Given the description of an element on the screen output the (x, y) to click on. 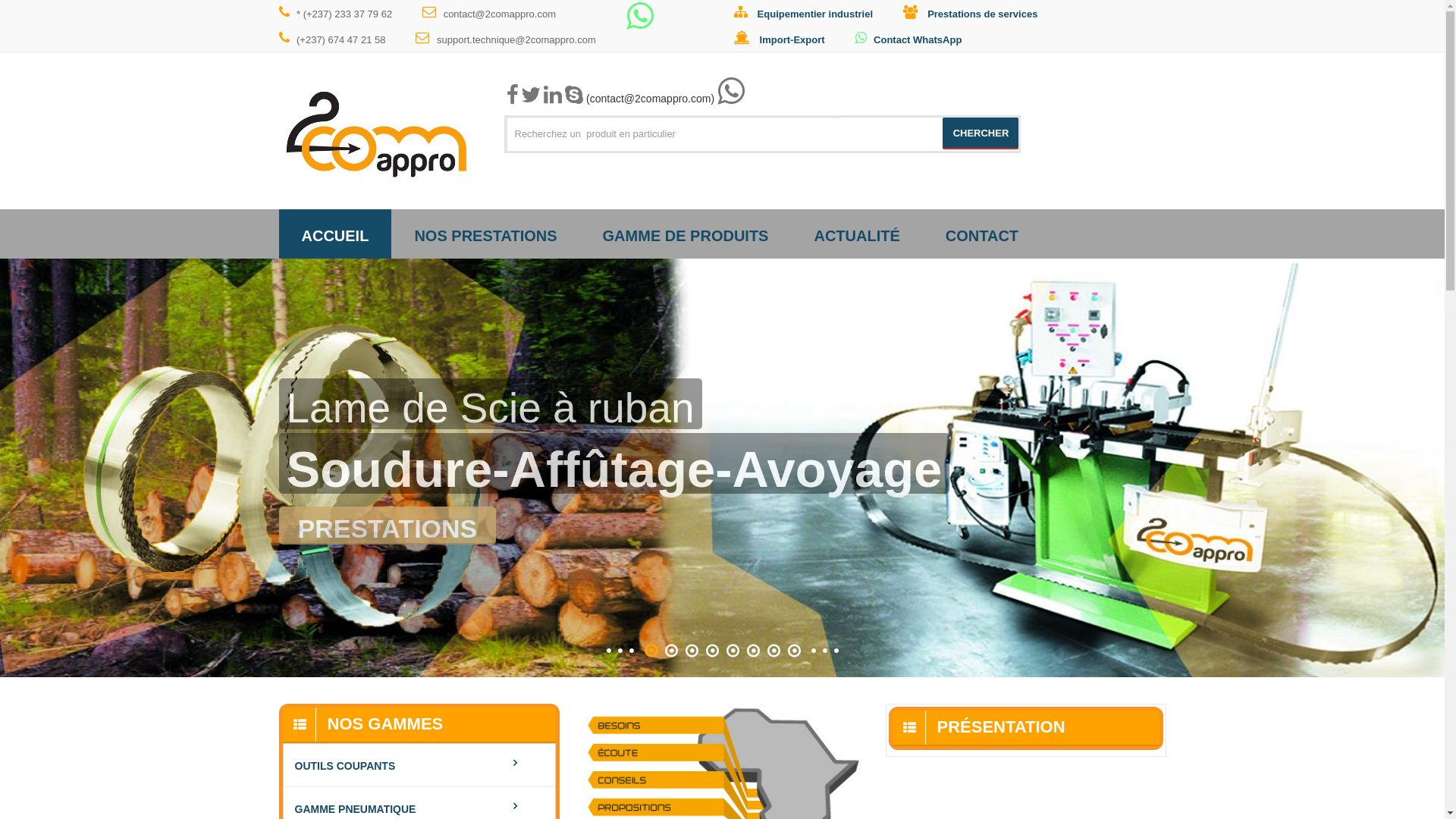
Chercher Element type: text (980, 133)
PRESTATIONS Element type: text (387, 525)
NOS PRESTATIONS Element type: text (485, 233)
OUTILS COUPANTS Element type: text (419, 765)
CONTACT Element type: text (981, 233)
ACCUEIL Element type: text (335, 233)
 Prestations de services Element type: text (985, 12)
* (+237) 233 37 79 62 Element type: text (351, 12)
contact@2comappro.com Element type: text (504, 12)
 Equipementier industriel Element type: text (818, 12)
support.technique@2comappro.com Element type: text (520, 38)
(+237) 674 47 21 58 Element type: text (347, 38)
WhatApp Element type: hover (639, 23)
 Import-Export Element type: text (794, 38)
GAMME DE PRODUITS Element type: text (685, 233)
Contact WhatsApp Element type: text (923, 38)
